Given the description of an element on the screen output the (x, y) to click on. 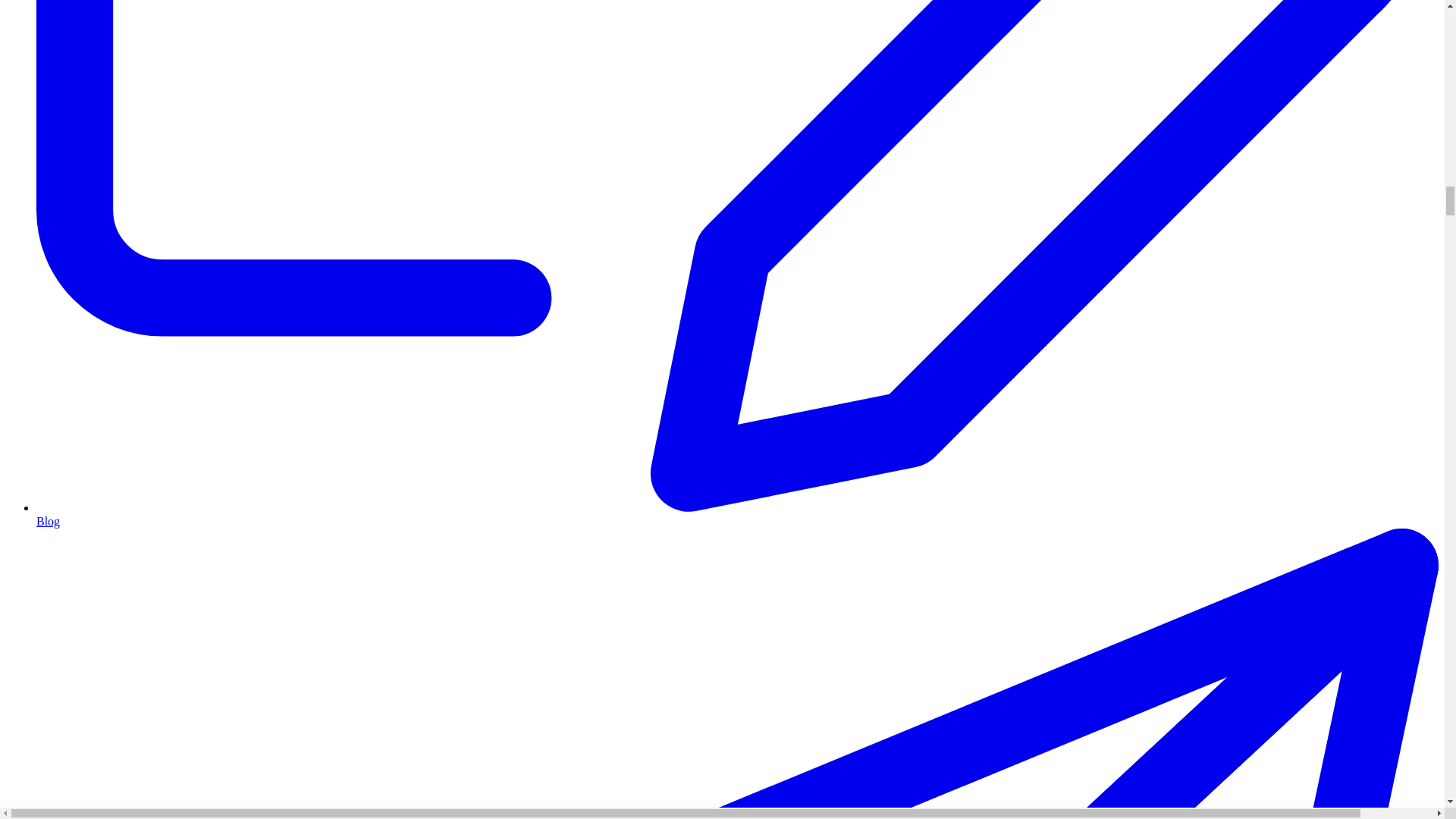
Blog (737, 514)
